Given the description of an element on the screen output the (x, y) to click on. 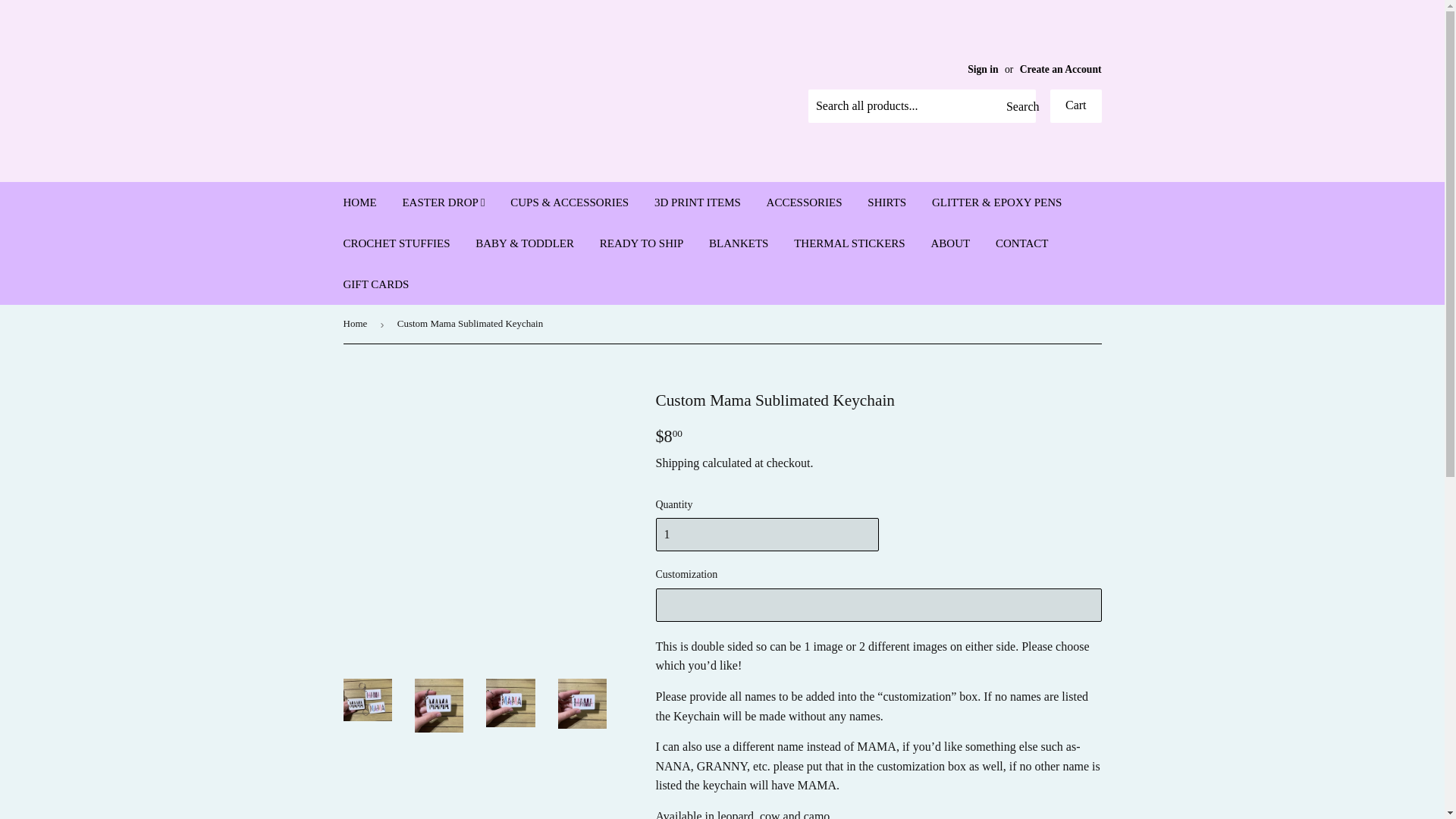
Create an Account (1061, 69)
1 (766, 534)
Search (1018, 106)
Cart (1075, 105)
Sign in (982, 69)
